Given the description of an element on the screen output the (x, y) to click on. 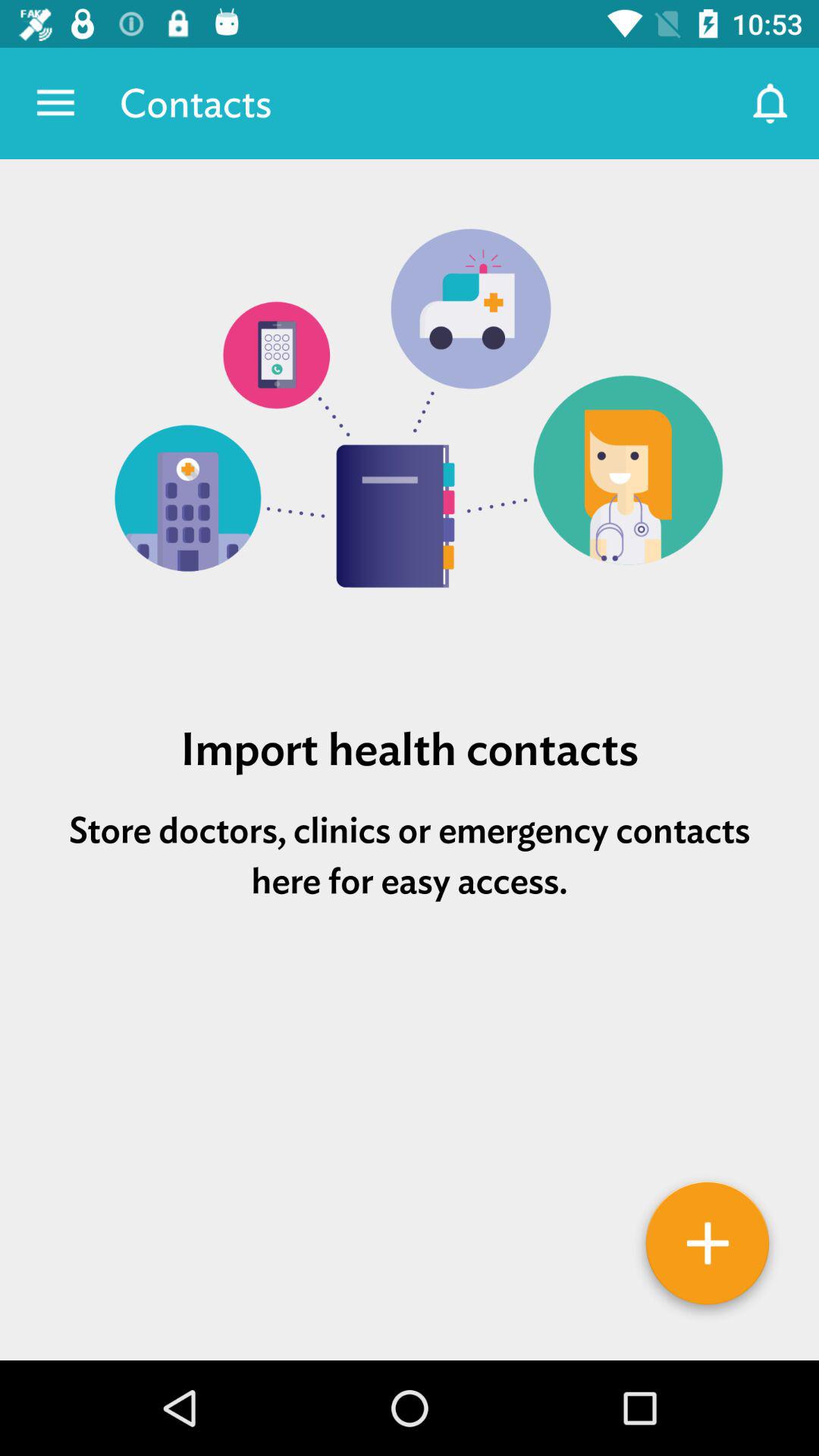
open the icon below the store doctors clinics (409, 994)
